Given the description of an element on the screen output the (x, y) to click on. 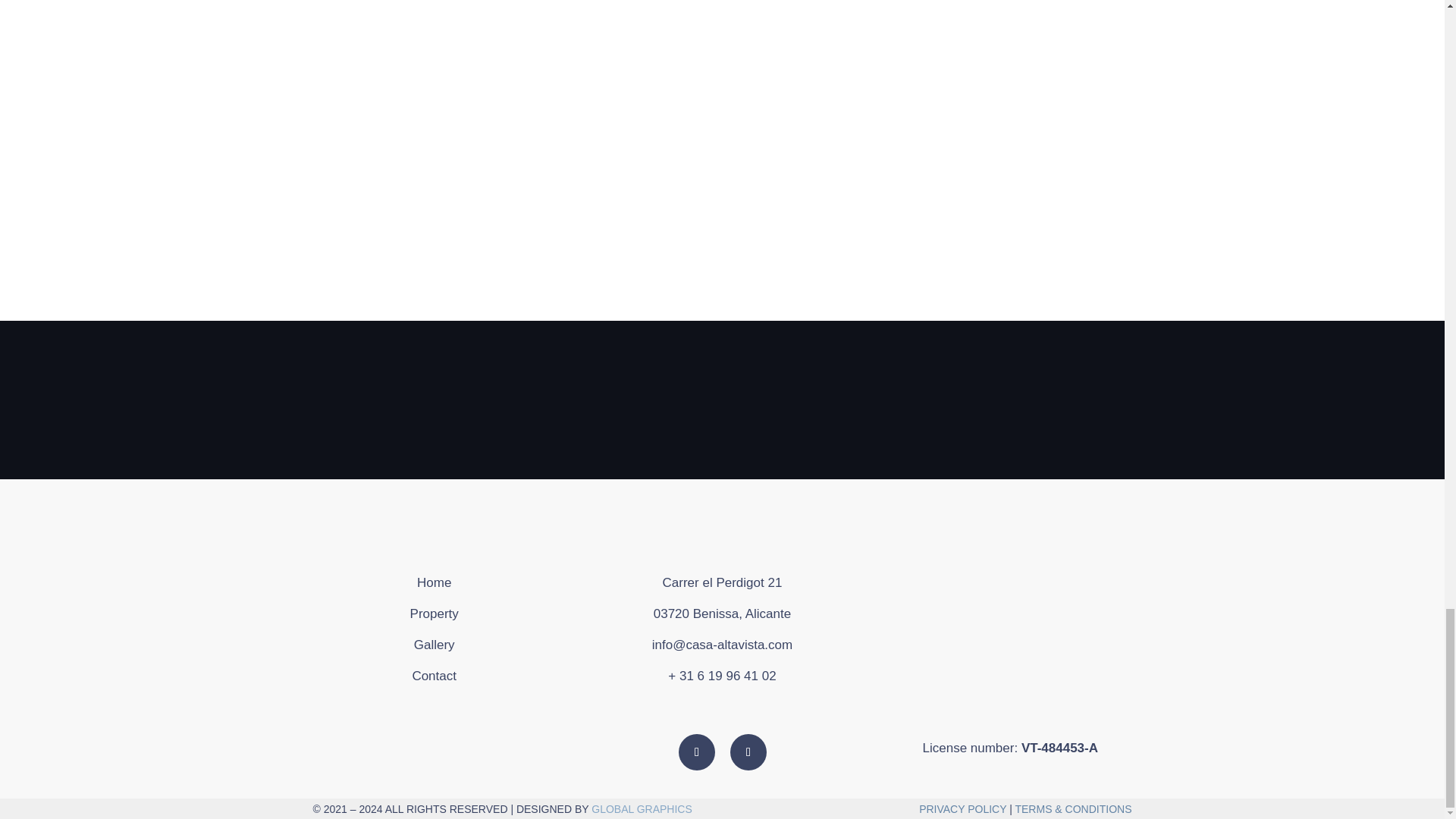
GLOBAL GRAPHICS (642, 808)
Follow on Facebook (696, 751)
Follow on Instagram (748, 751)
Contact (434, 676)
PRIVACY POLICY (962, 808)
Property (434, 613)
Gallery (433, 644)
Home (433, 582)
